Given the description of an element on the screen output the (x, y) to click on. 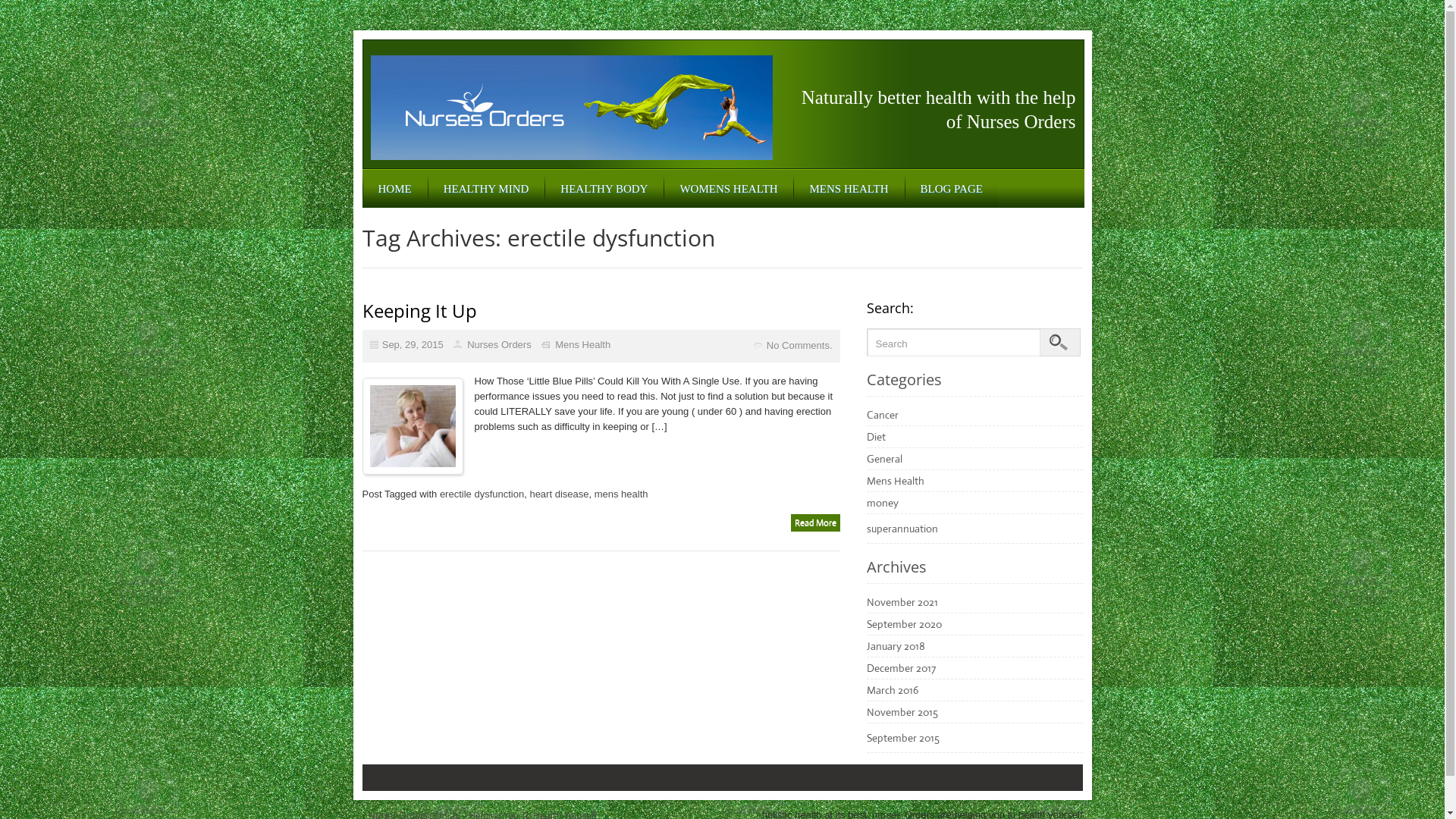
Cancer Element type: text (881, 414)
March 2016 Element type: text (891, 689)
money Element type: text (881, 502)
mens health Element type: text (621, 493)
General Element type: text (883, 458)
September 2015 Element type: text (902, 737)
Diet Element type: text (875, 436)
December 2017 Element type: text (900, 667)
Read More Element type: text (814, 522)
HEALTHY MIND Element type: text (486, 188)
heart disease Element type: text (558, 493)
MENS HEALTH Element type: text (848, 188)
Keeping It Up Element type: text (419, 310)
Mens Health Element type: text (894, 480)
November 2015 Element type: text (901, 711)
WOMENS HEALTH Element type: text (728, 188)
January 2018 Element type: text (895, 645)
erectile dysfunction Element type: text (481, 493)
No Comments. Element type: text (799, 345)
BLOG PAGE Element type: text (951, 188)
Mens Health Element type: text (582, 344)
HOME Element type: text (394, 188)
September 2020 Element type: text (903, 623)
Nurses Orders Element type: text (499, 344)
November 2021 Element type: text (901, 601)
superannuation Element type: text (901, 528)
HEALTHY BODY Element type: text (603, 188)
